Given the description of an element on the screen output the (x, y) to click on. 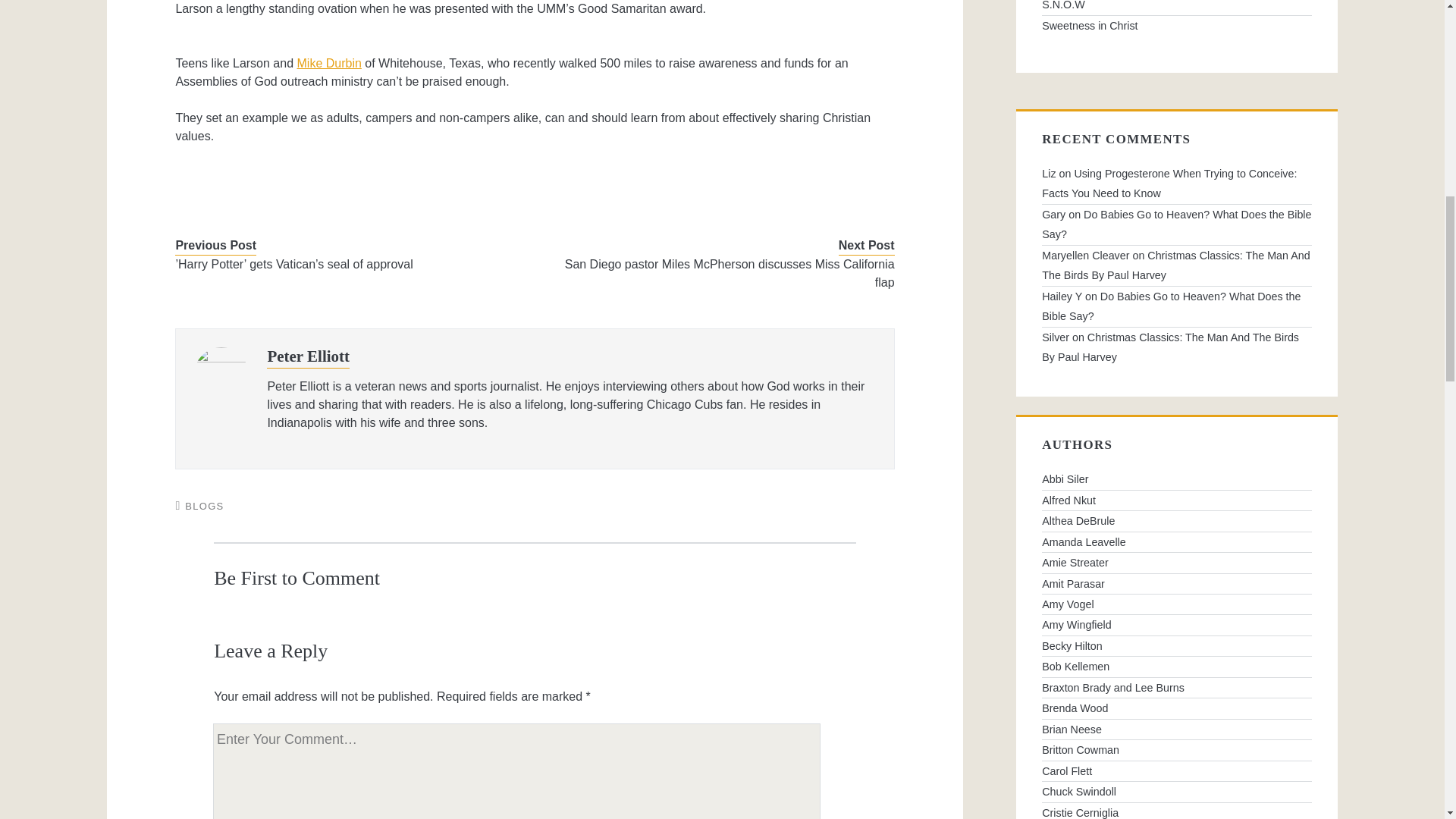
Alfred Nkut (1176, 500)
Posts by Abbi Siler (1176, 478)
Amanda Leavelle (1176, 542)
Posts by Althea DeBrule (1176, 520)
Peter Elliott (307, 356)
Christmas Classics: The Man And The Birds By Paul Harvey (1175, 265)
Posts by Amanda Leavelle (1176, 542)
Sweetness in Christ (1176, 25)
Abbi Siler (1176, 478)
BLOGS (204, 505)
View all posts in Blogs (204, 505)
Althea DeBrule (1176, 520)
Mike Durbin (329, 62)
